Given the description of an element on the screen output the (x, y) to click on. 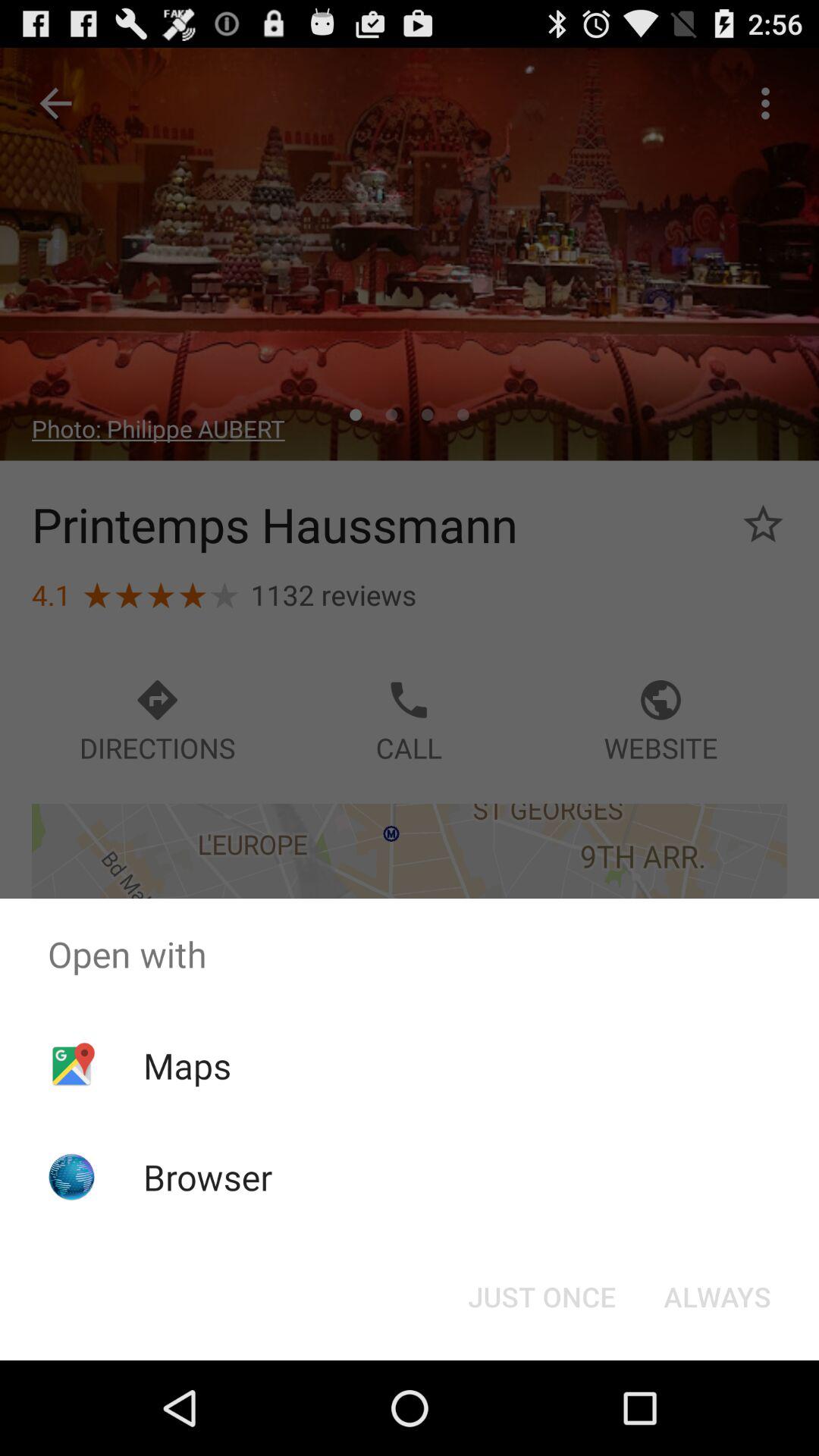
click the app above the browser app (187, 1065)
